Given the description of an element on the screen output the (x, y) to click on. 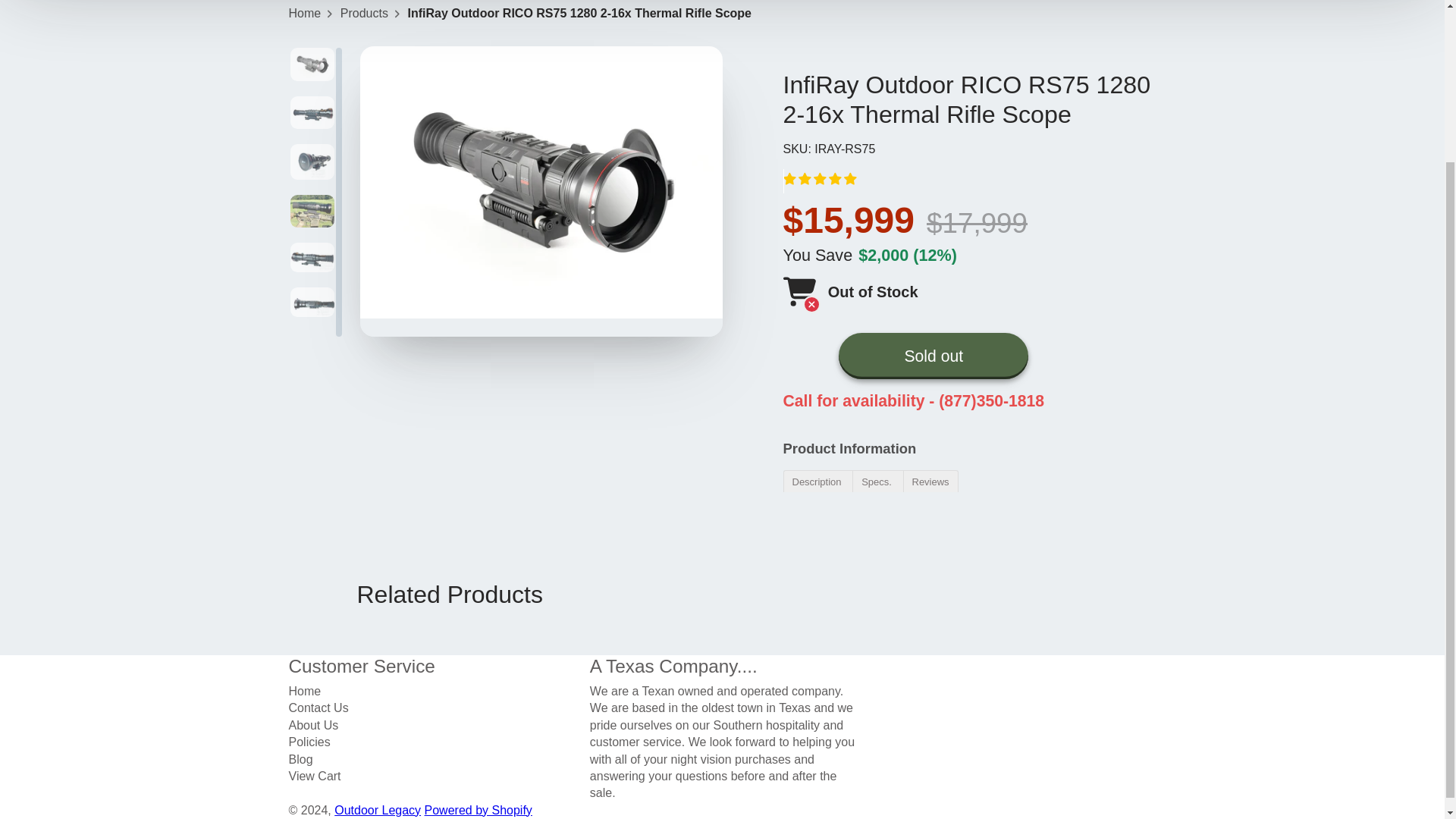
Description  (817, 481)
Home (304, 13)
Products (364, 13)
Sold out (932, 355)
